Given the description of an element on the screen output the (x, y) to click on. 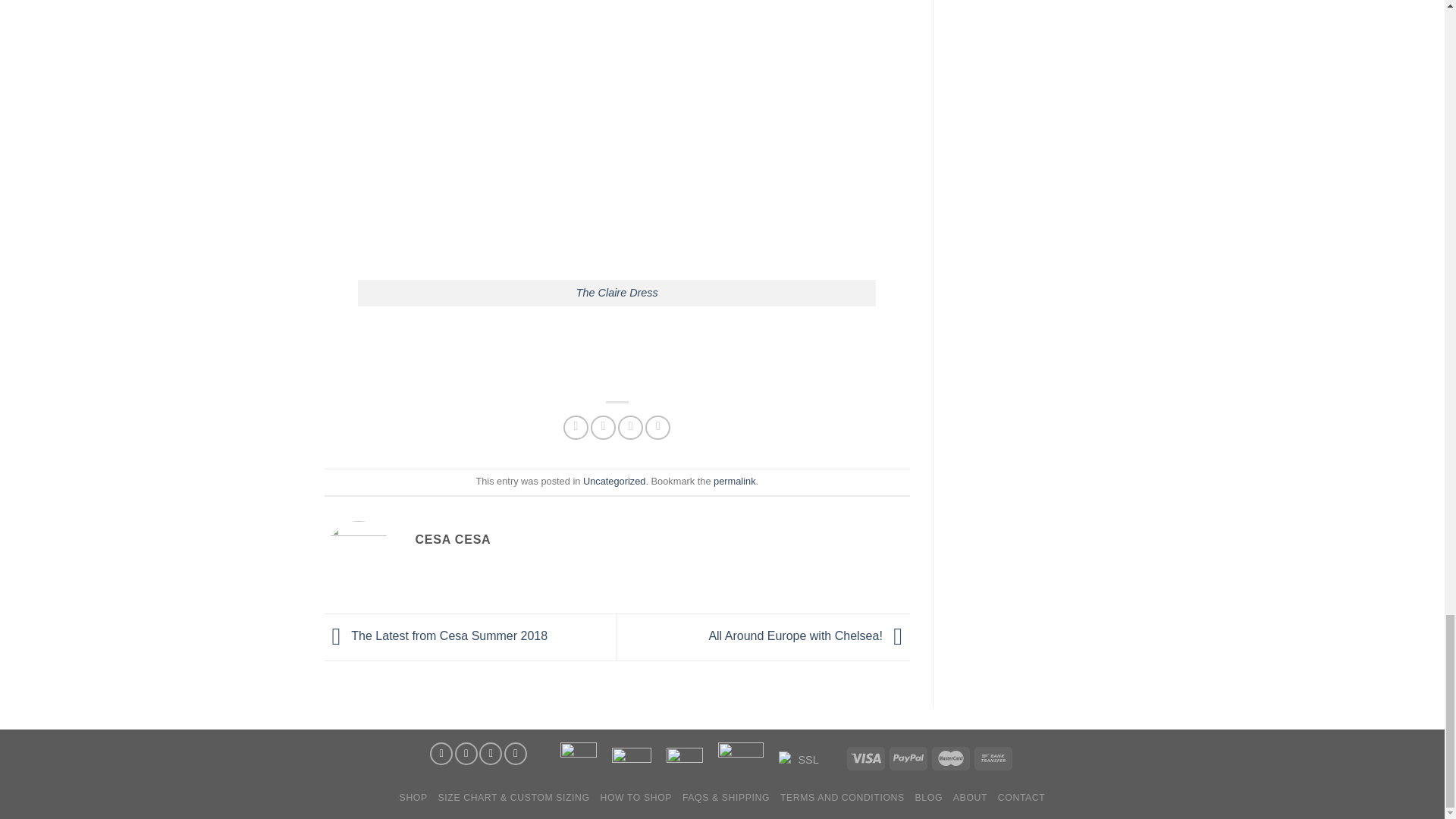
Email to a Friend (630, 427)
Permalink to Summer Dresses (734, 480)
Send us an email (515, 753)
Follow on Twitter (490, 753)
SSL Certificate (802, 760)
Follow on Instagram (465, 753)
Pin on Pinterest (657, 427)
Follow on Facebook (440, 753)
The Claire Dress (617, 292)
Share on Twitter (603, 427)
